Given the description of an element on the screen output the (x, y) to click on. 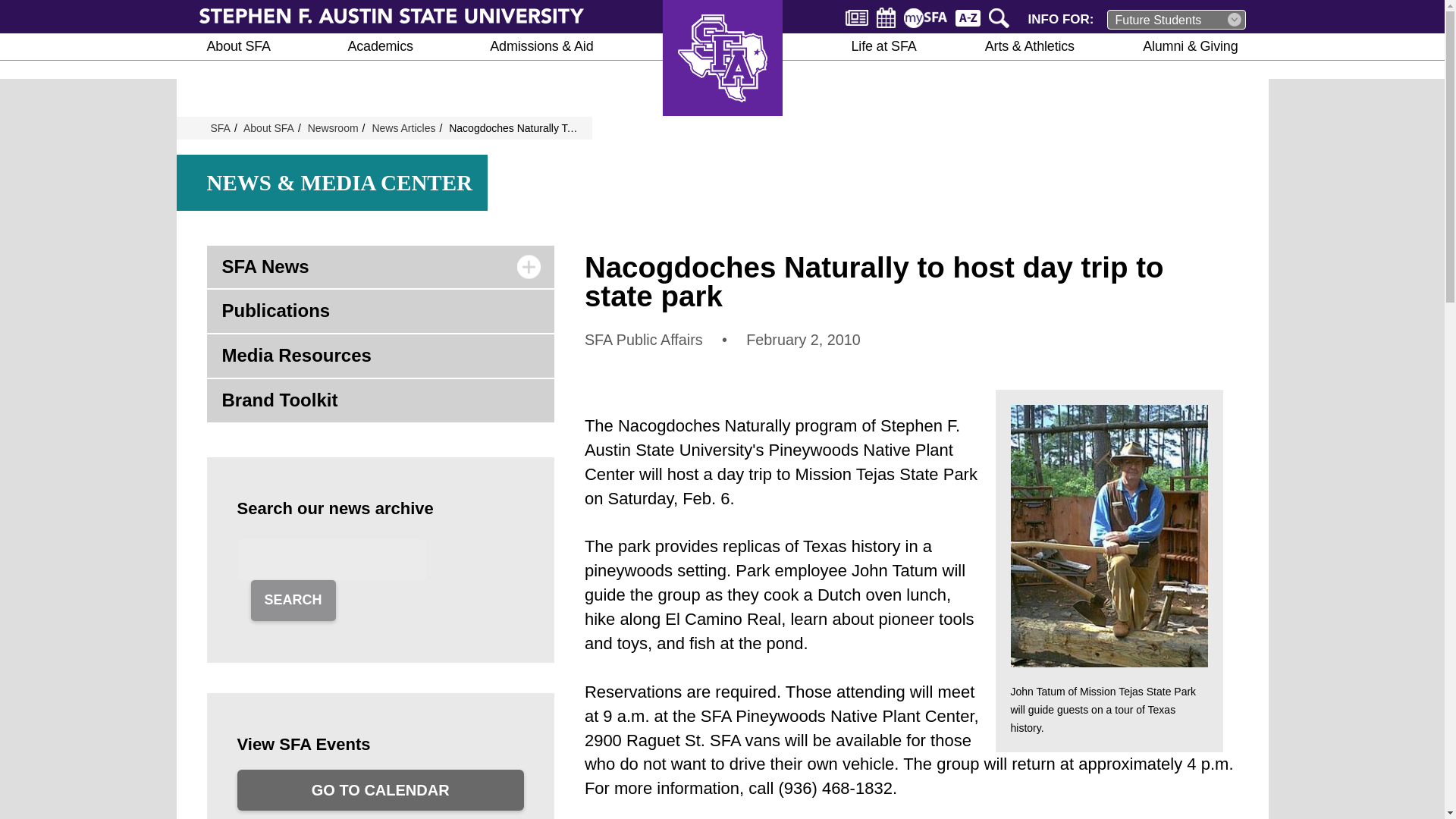
mySFA (925, 17)
Future Students (1176, 19)
A to Z list (967, 17)
Search  (1000, 17)
mySFA (925, 17)
Calendar (885, 17)
News (856, 17)
About SFA (238, 46)
News (856, 17)
Calendar (885, 17)
Search (1000, 17)
